Given the description of an element on the screen output the (x, y) to click on. 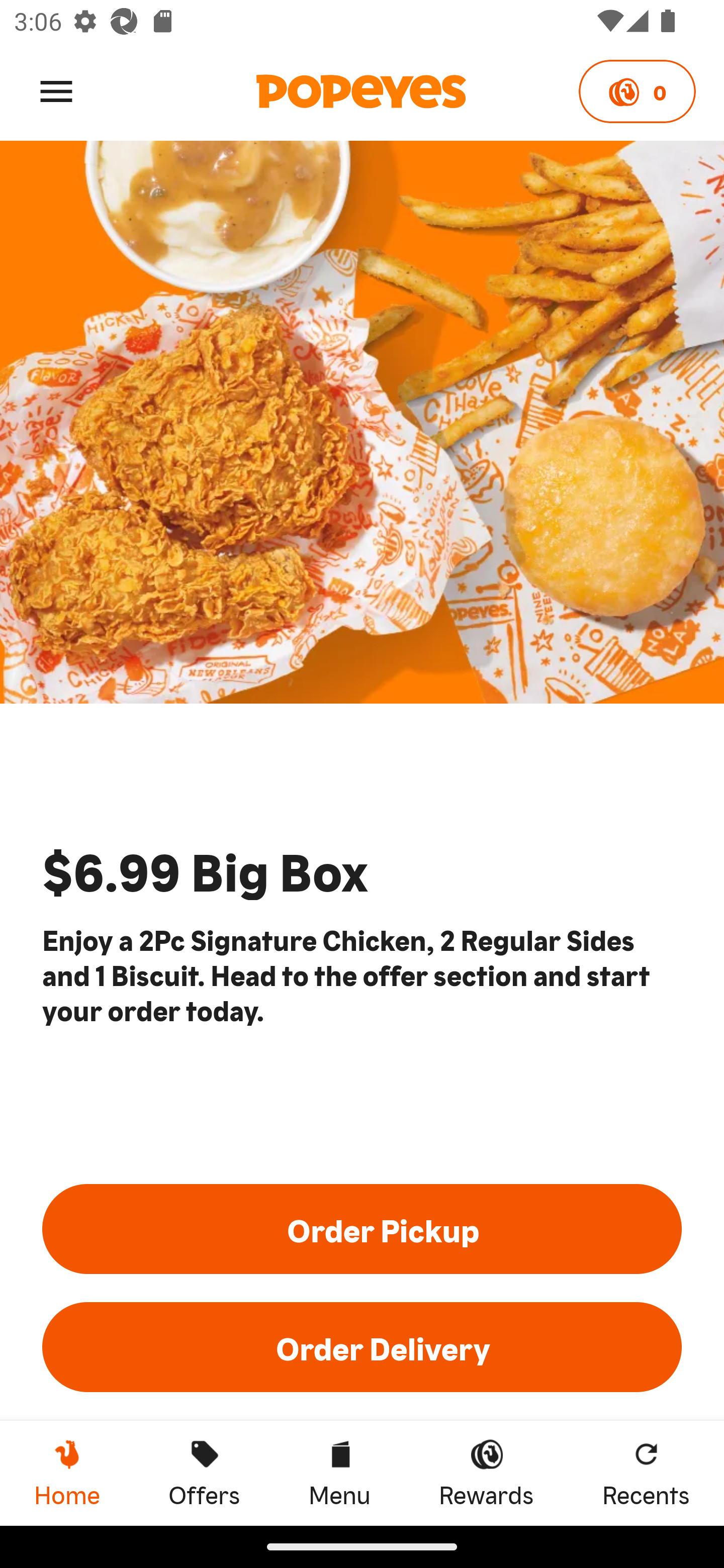
Menu  (56, 90)
0 Points 0 (636, 91)
Order Pickup (361, 1228)
Order Delivery (361, 1346)
Home, current page Home Home, current page (66, 1472)
Offers Offers Offers (203, 1472)
Menu Menu Menu (339, 1472)
Rewards Rewards Rewards (486, 1472)
Recents Recents Recents (646, 1472)
